Given the description of an element on the screen output the (x, y) to click on. 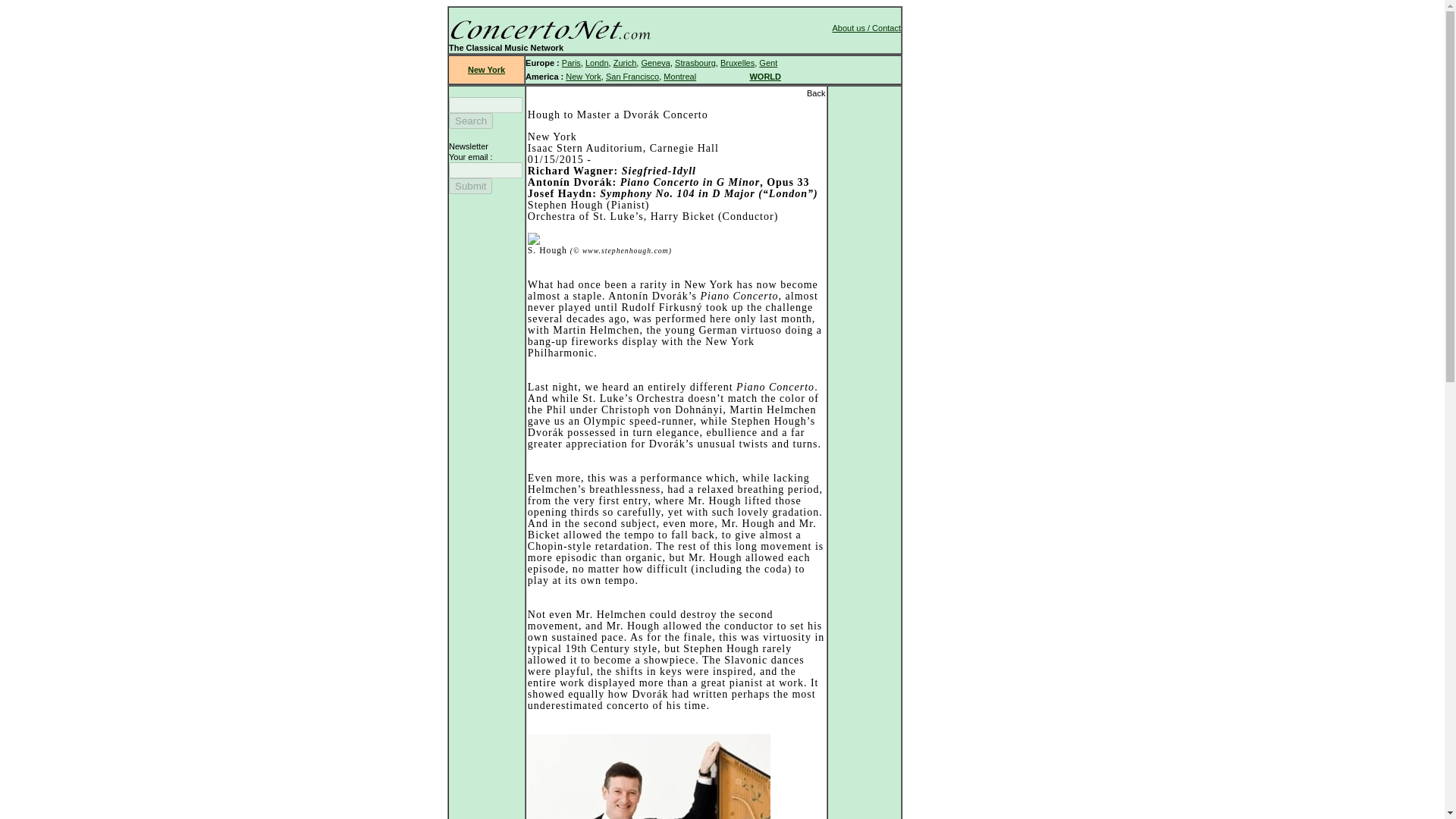
San Francisco (632, 76)
Submit (470, 186)
Londn (596, 62)
Zurich (624, 62)
Back (815, 92)
New York (582, 76)
last month (786, 318)
Search (470, 120)
Gent (767, 62)
Paris (571, 62)
Search (470, 120)
Bruxelles (737, 62)
Geneva (654, 62)
Montreal (679, 76)
Submit (470, 186)
